Given the description of an element on the screen output the (x, y) to click on. 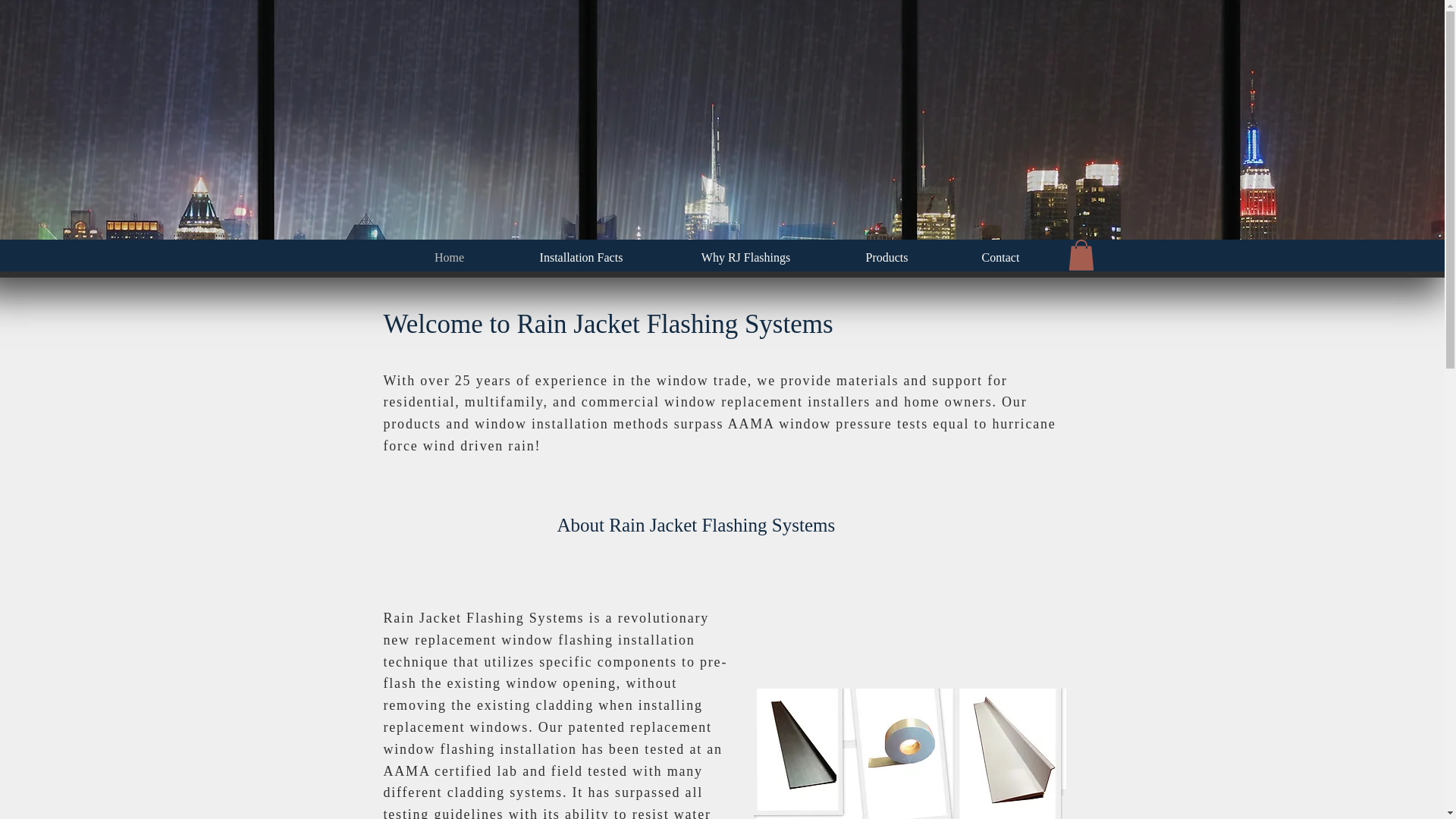
Installation Facts (580, 256)
Why RJ Flashings (745, 256)
Contact (999, 256)
Products (886, 256)
Home (448, 256)
